Given the description of an element on the screen output the (x, y) to click on. 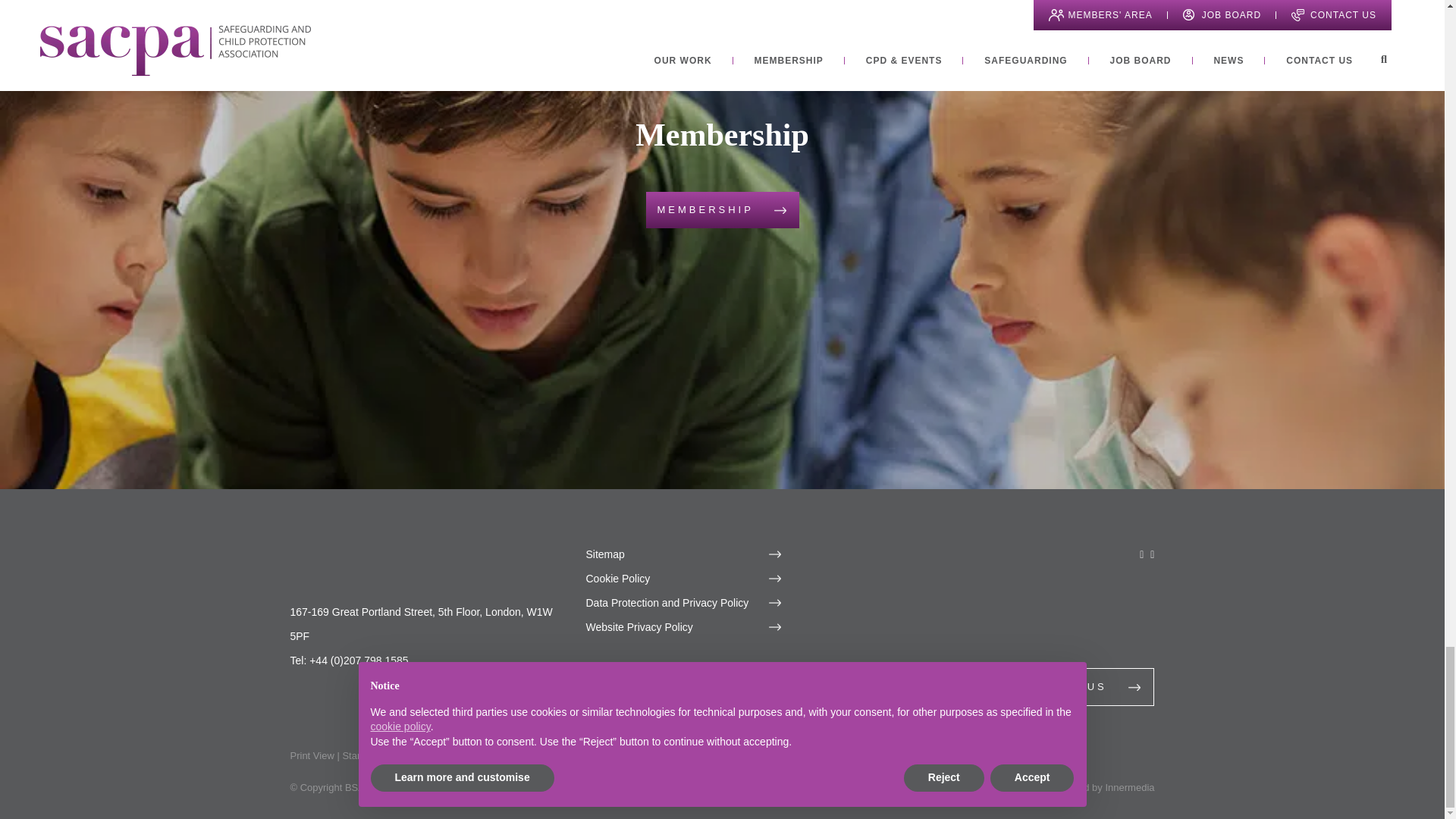
Switch to Standard Visibility (374, 755)
Switch to High Visibility (442, 755)
Switch to Print (311, 755)
